Given the description of an element on the screen output the (x, y) to click on. 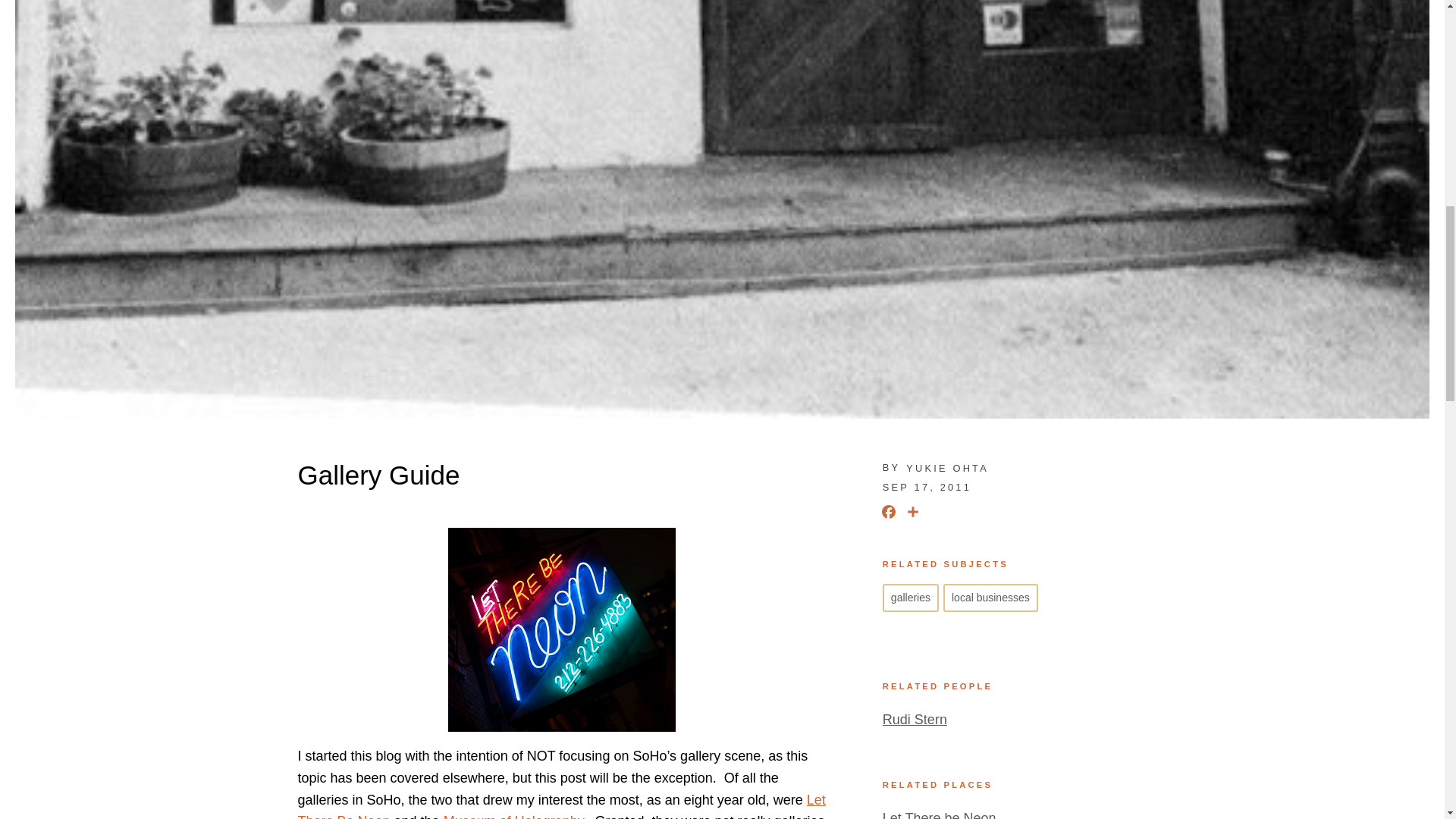
galleries (910, 596)
local businesses (990, 596)
Facebook (888, 514)
Let There be Neon (938, 814)
Museum of Holography (513, 816)
FACEBOOK (888, 514)
Let There Be Neon (561, 805)
Rudi Stern (914, 719)
